Given the description of an element on the screen output the (x, y) to click on. 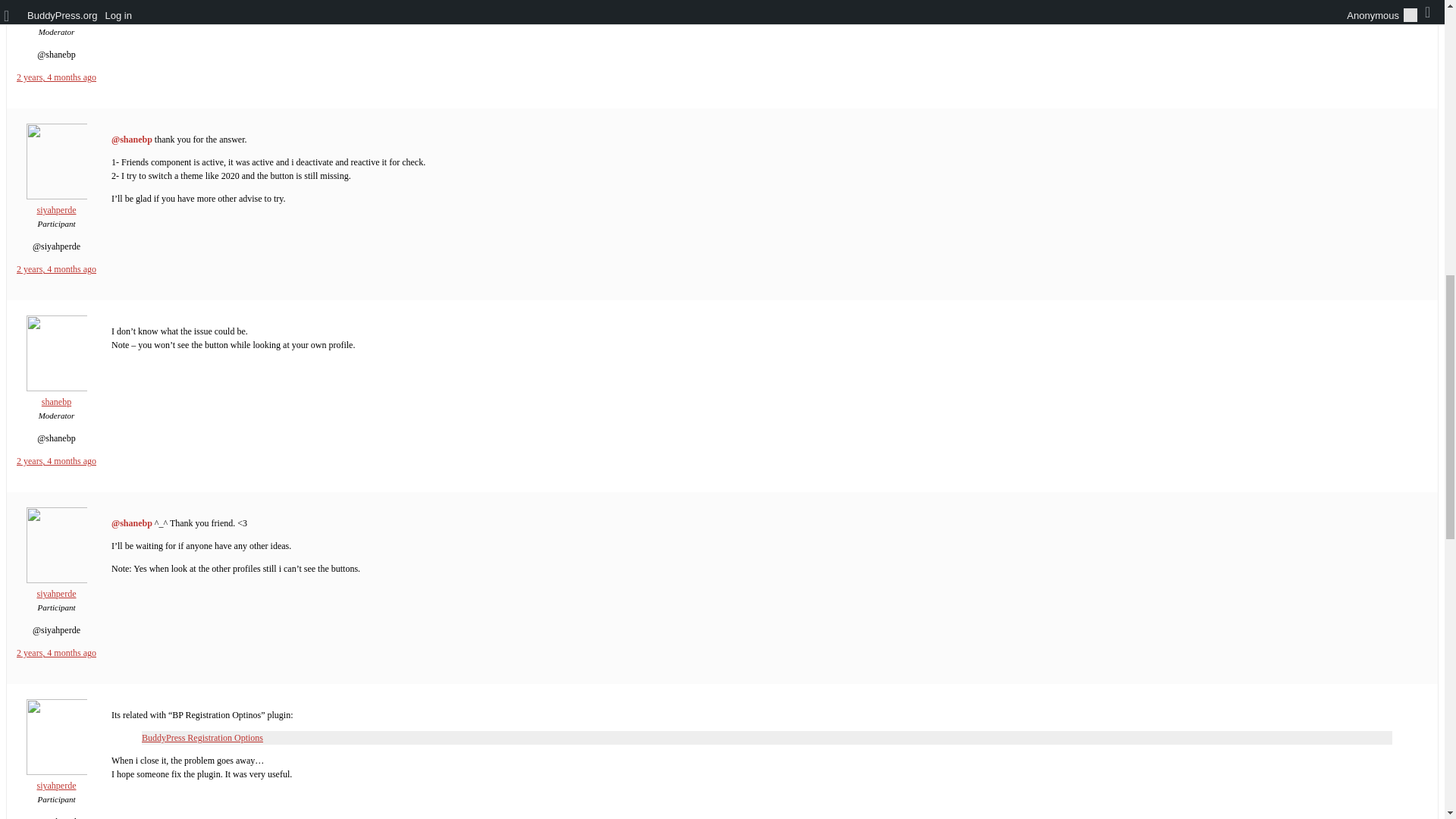
siyahperde (56, 779)
2 years, 4 months ago (56, 268)
siyahperde (56, 587)
2 years, 4 months ago (56, 652)
shanebp (56, 395)
2 years, 4 months ago (56, 460)
BuddyPress Registration Options (202, 737)
2 years, 4 months ago (56, 77)
siyahperde (56, 203)
shanebp (56, 12)
